Given the description of an element on the screen output the (x, y) to click on. 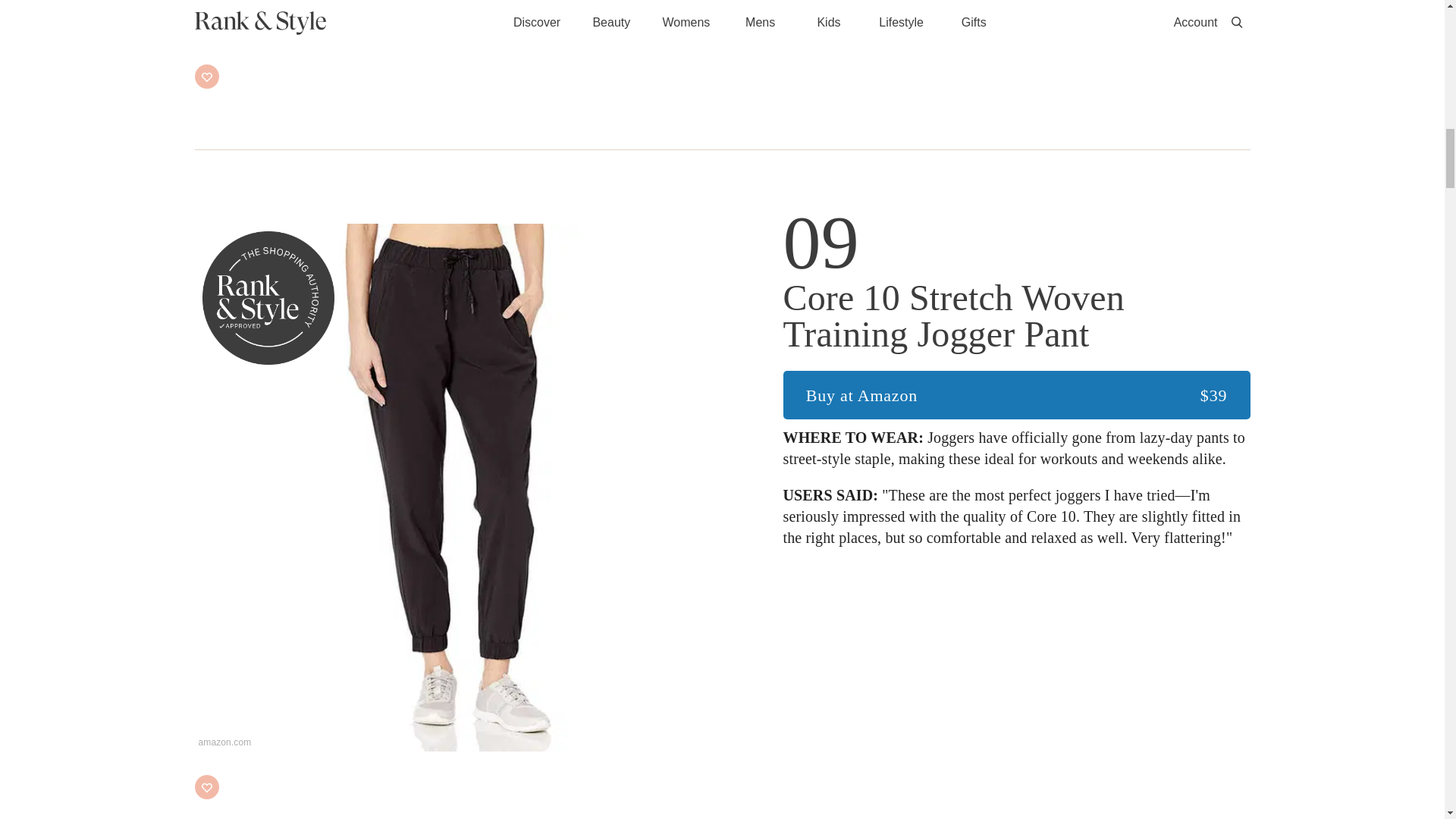
amazon.com (457, 22)
